Given the description of an element on the screen output the (x, y) to click on. 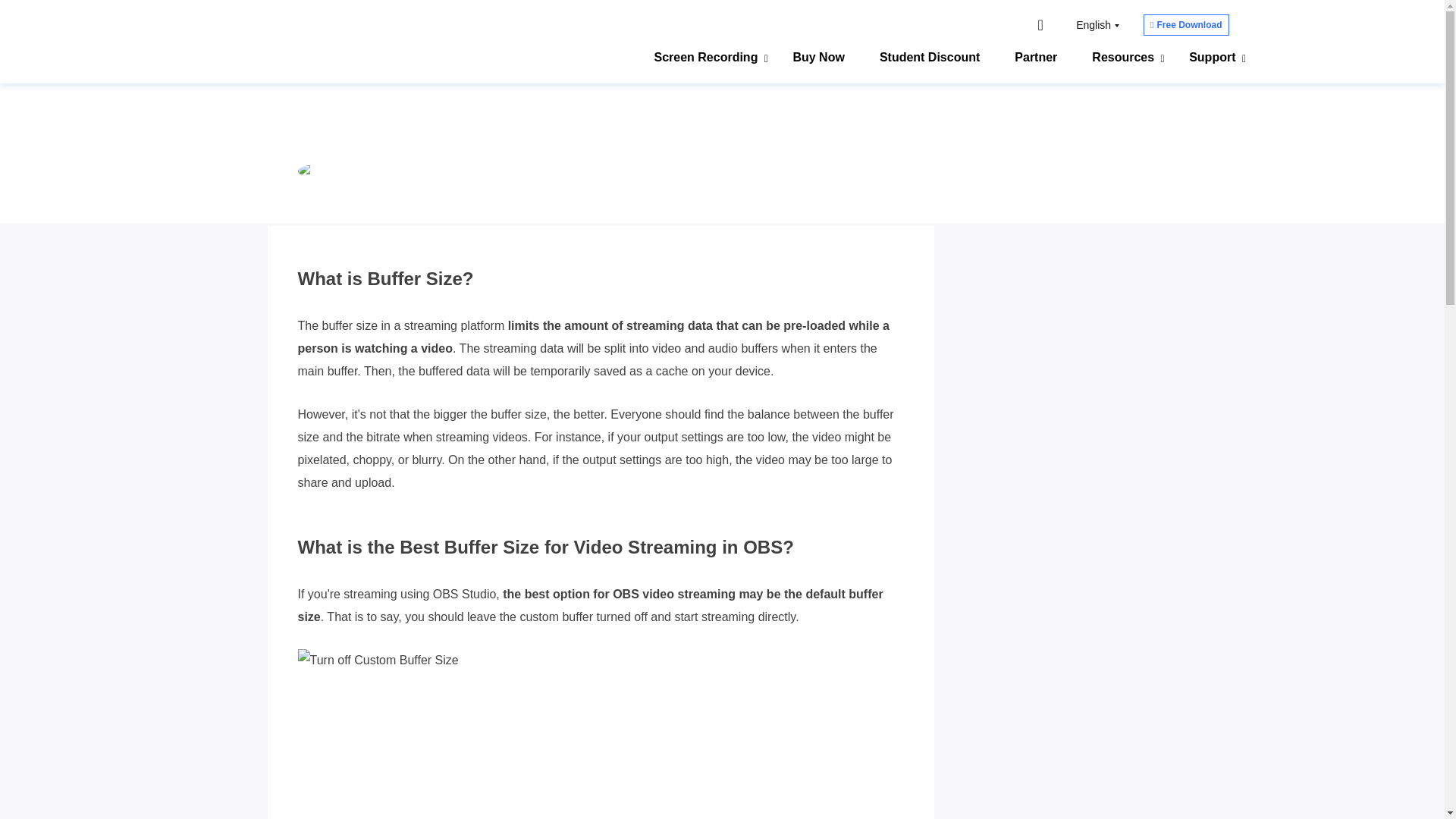
Melissa Lee (419, 174)
Home (638, 174)
Glossary and Terms (735, 174)
Buy Now (817, 59)
English (1097, 24)
Partner (1035, 59)
